Given the description of an element on the screen output the (x, y) to click on. 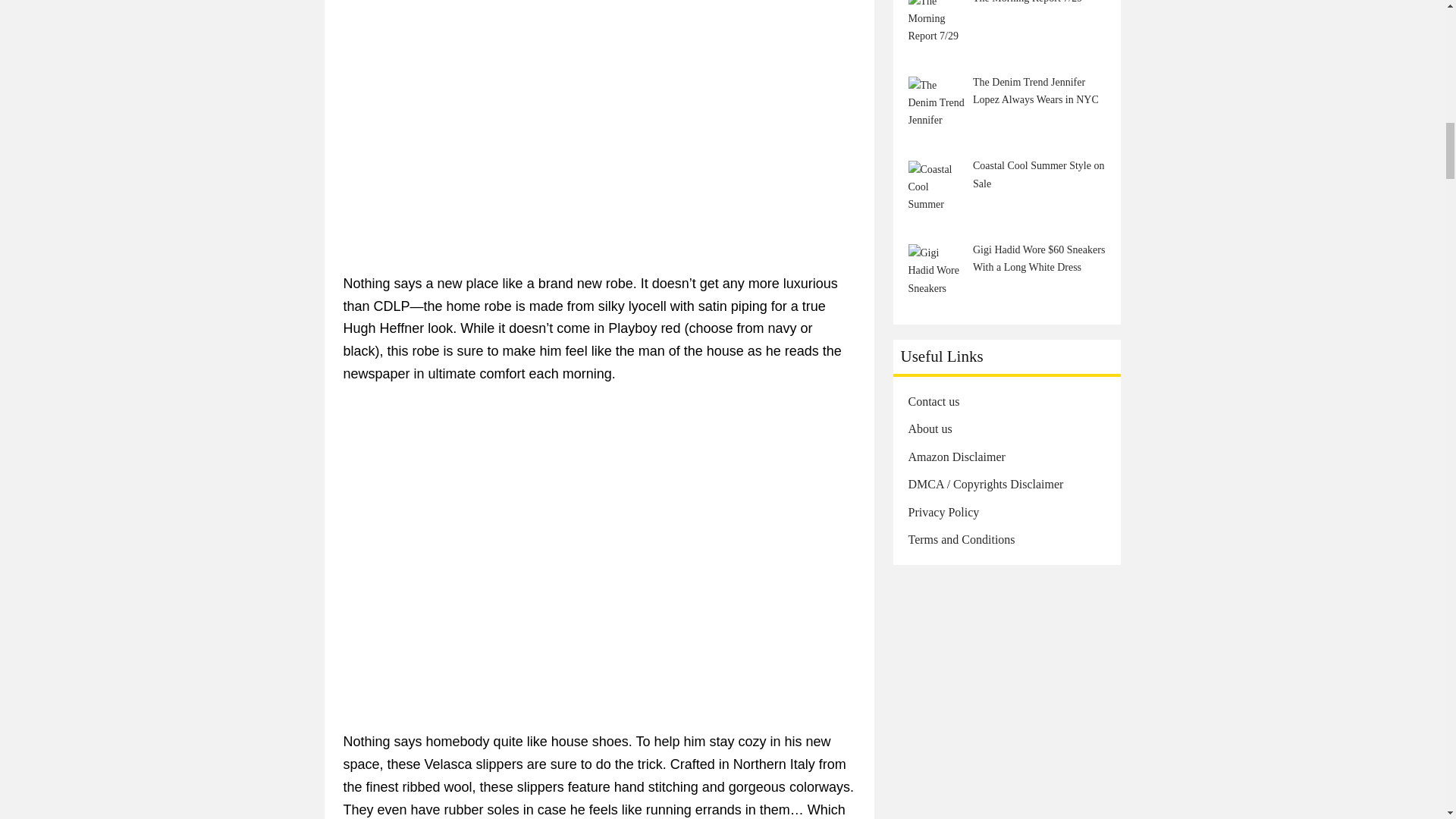
Coastal Cool Summer Style on Sale (936, 188)
Gigi Hadid Wore  Sneakers With a Long White Dress (936, 272)
The Denim Trend Jennifer Lopez Always Wears in NYC (936, 104)
